Given the description of an element on the screen output the (x, y) to click on. 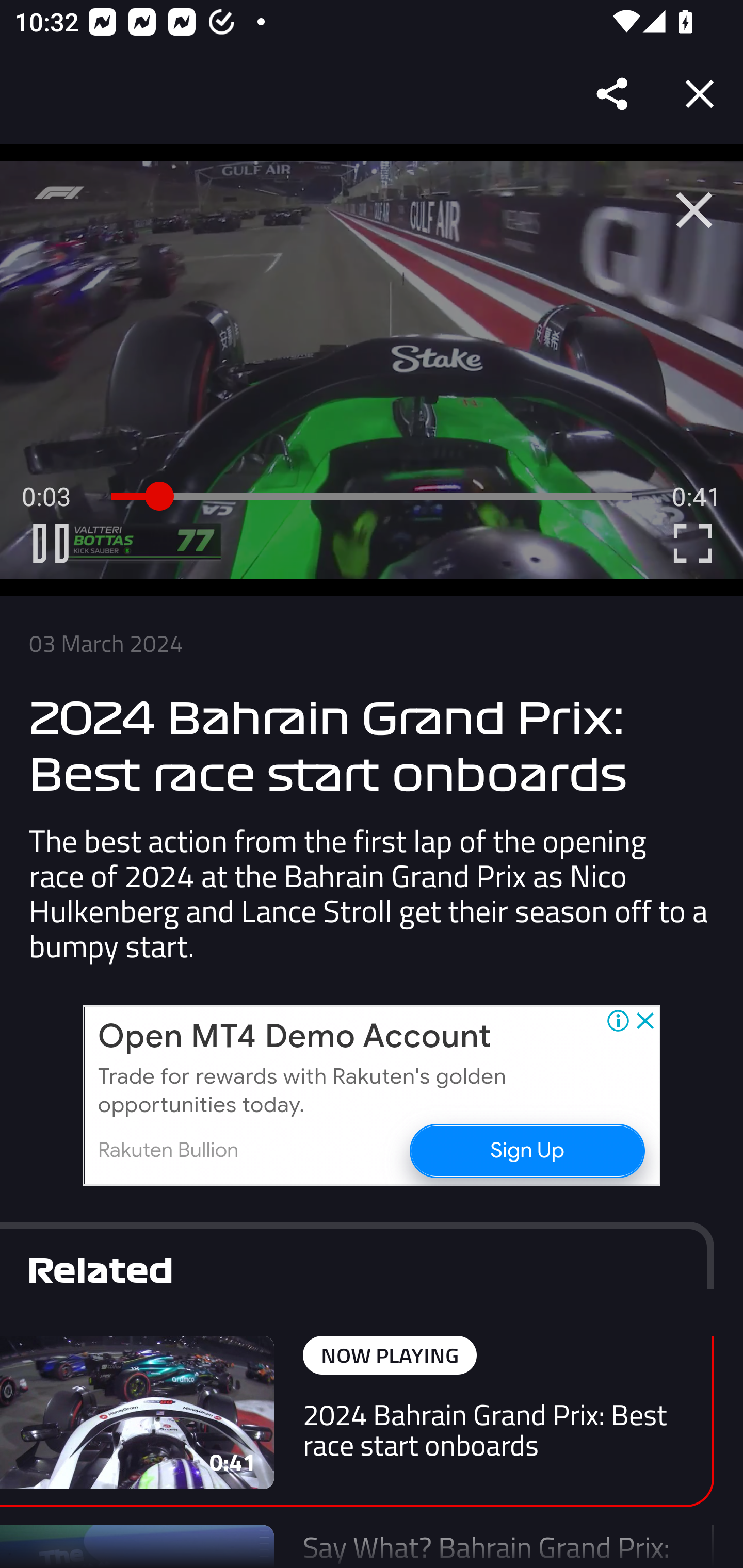
Share (612, 93)
Close (699, 93)
 Close (693, 210)
B Pause (50, 543)
C Enter Fullscreen (692, 543)
Open MT4 Demo Account (294, 1036)
Sign Up (526, 1150)
Rakuten Bullion (168, 1149)
